Given the description of an element on the screen output the (x, y) to click on. 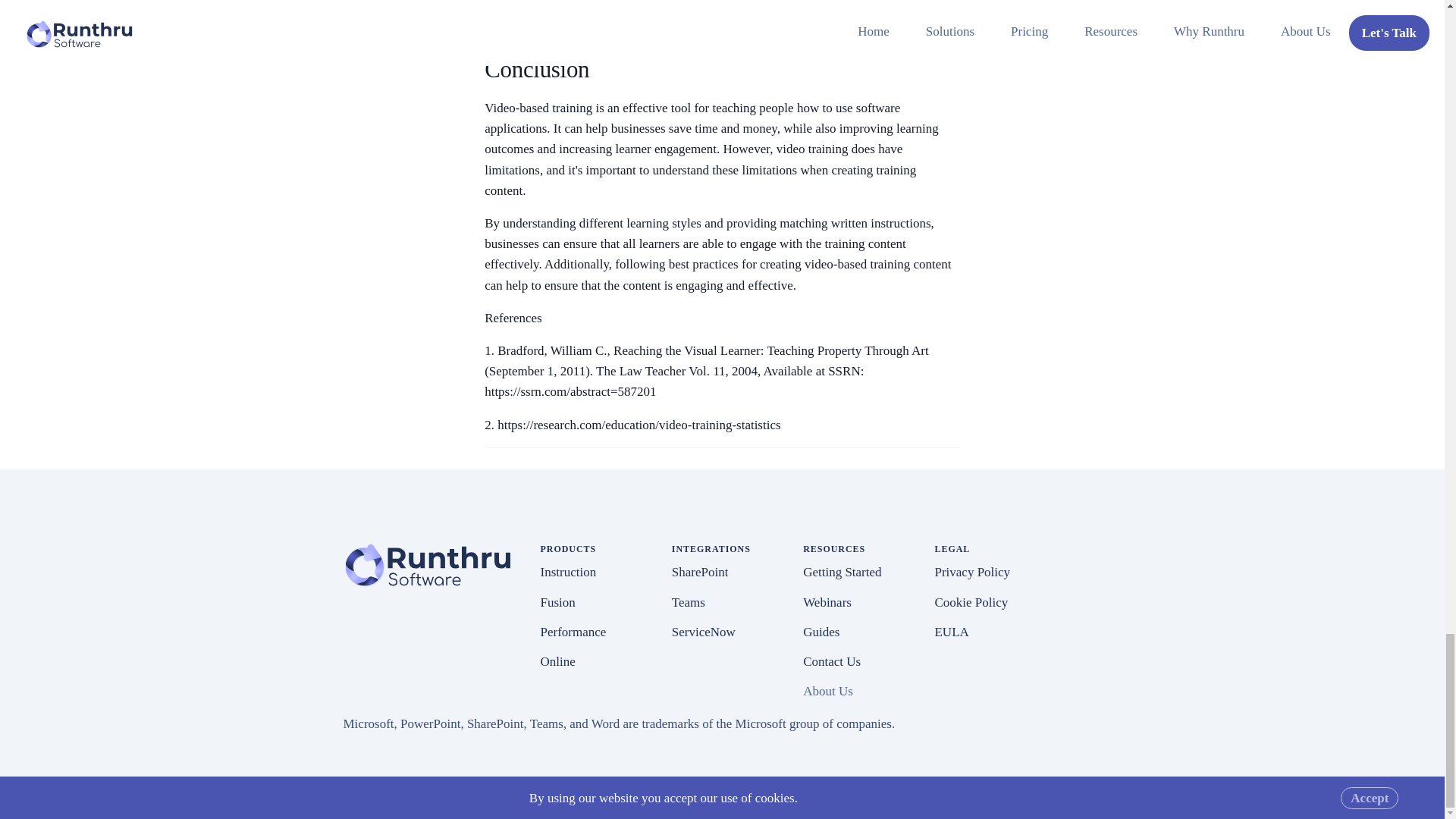
Teams (687, 601)
ServiceNow (703, 631)
About Us (828, 690)
Guides (821, 631)
Contact Us (831, 661)
Webinars (827, 601)
SharePoint (700, 572)
Online (557, 661)
Performance (572, 631)
Fusion (557, 601)
Getting Started (841, 572)
Instruction (567, 572)
